Given the description of an element on the screen output the (x, y) to click on. 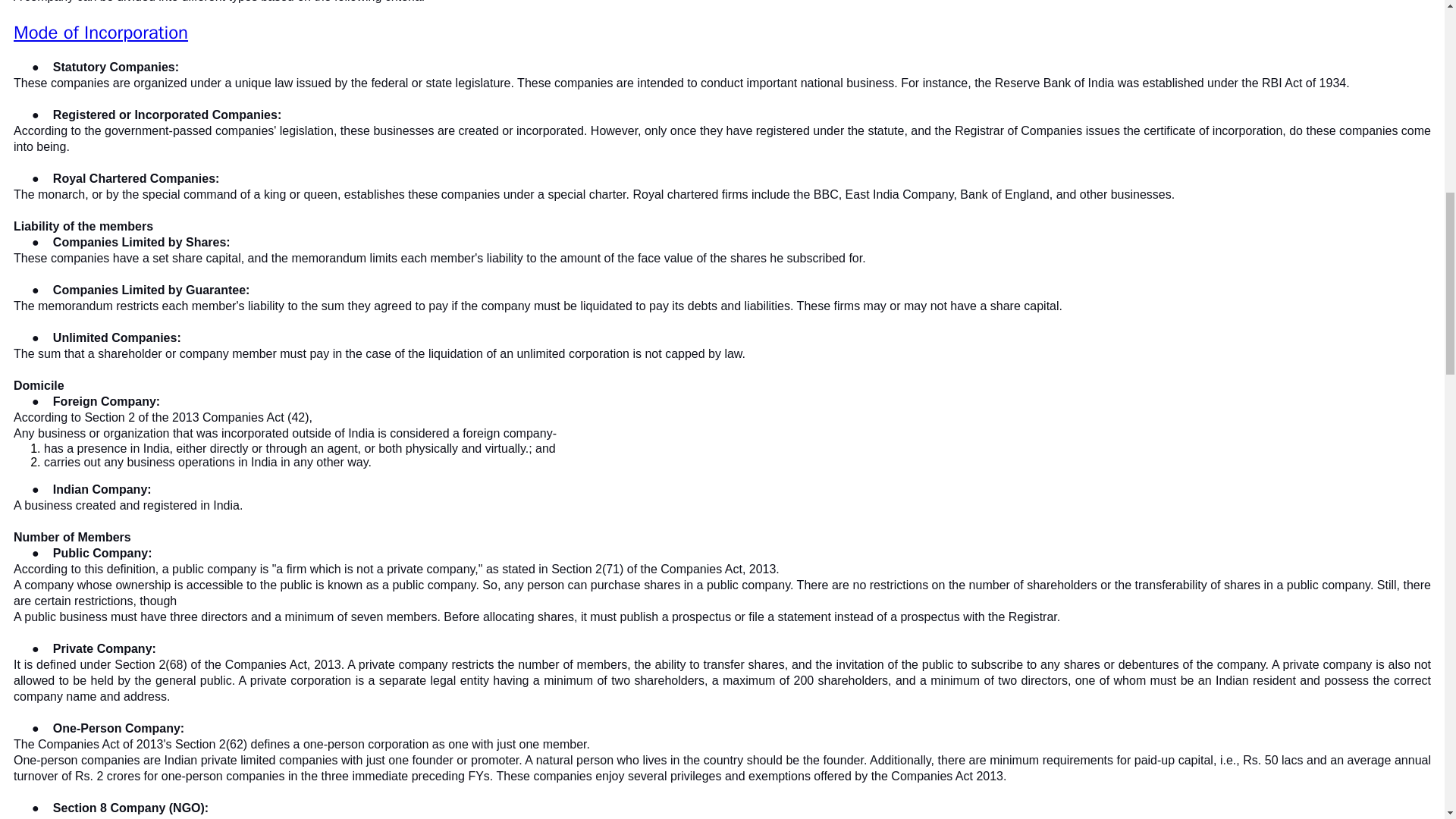
Mode of Incorporation (100, 32)
